Given the description of an element on the screen output the (x, y) to click on. 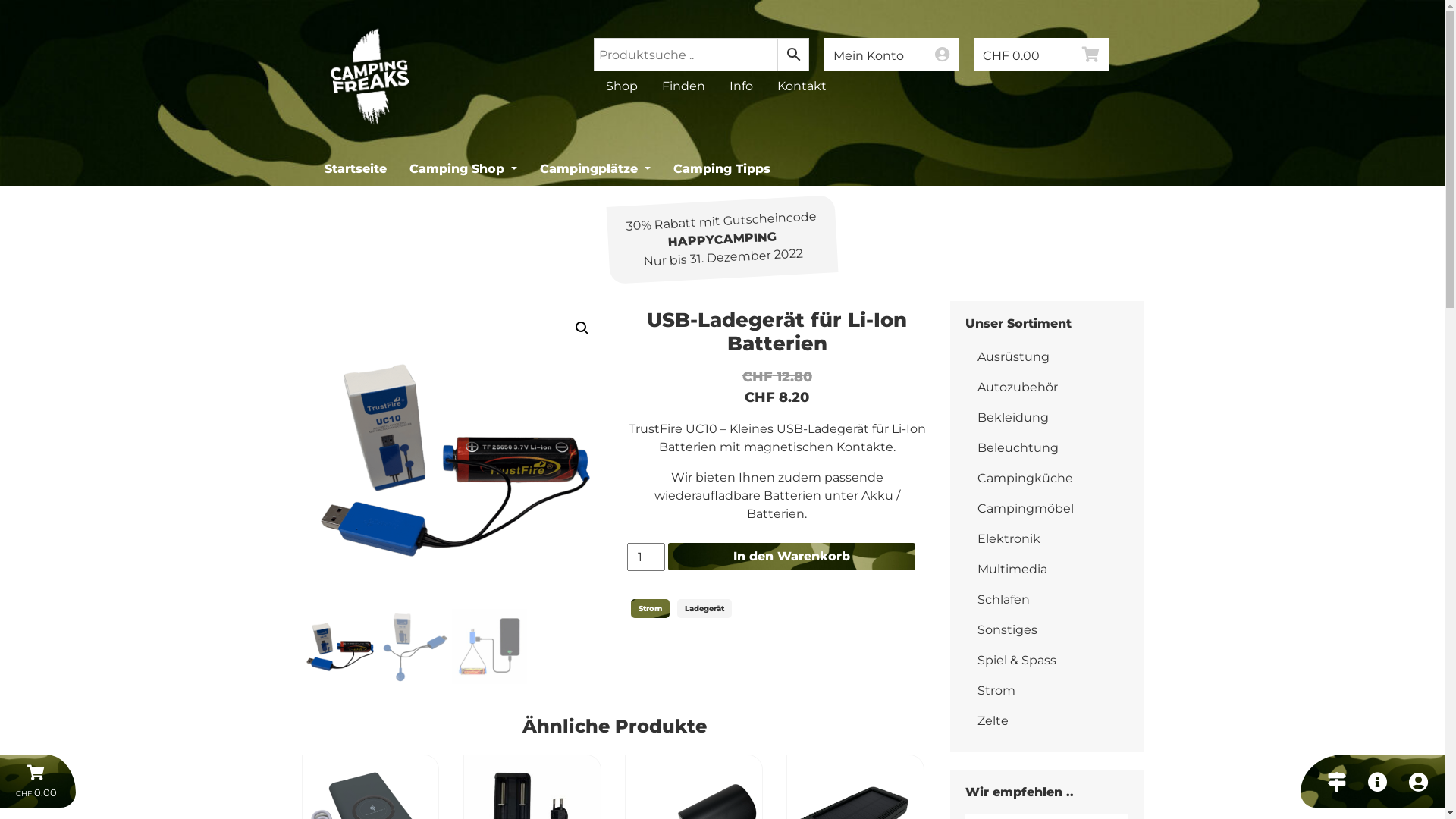
Shop Element type: text (621, 86)
Multimedia Element type: text (1045, 569)
Strom Element type: text (649, 608)
Zelte Element type: text (1045, 721)
Spiel & Spass Element type: text (1045, 660)
In den Warenkorb Element type: text (790, 556)
Bekleidung Element type: text (1045, 417)
CHF 0.00 Element type: text (1040, 54)
Beleuchtung Element type: text (1045, 448)
Info Element type: text (741, 86)
Mein Konto Element type: text (890, 54)
Camping Shop Element type: text (462, 168)
Elektronik Element type: text (1045, 539)
Sonstiges Element type: text (1045, 630)
Finden Element type: text (682, 86)
CHF 0.00 Element type: text (37, 780)
Camping Tipps Element type: text (721, 168)
Strom Element type: text (1045, 690)
Kontakt Element type: text (800, 86)
Akku / Batterien Element type: text (823, 504)
Schlafen Element type: text (1045, 599)
Startseite Element type: text (354, 168)
